Given the description of an element on the screen output the (x, y) to click on. 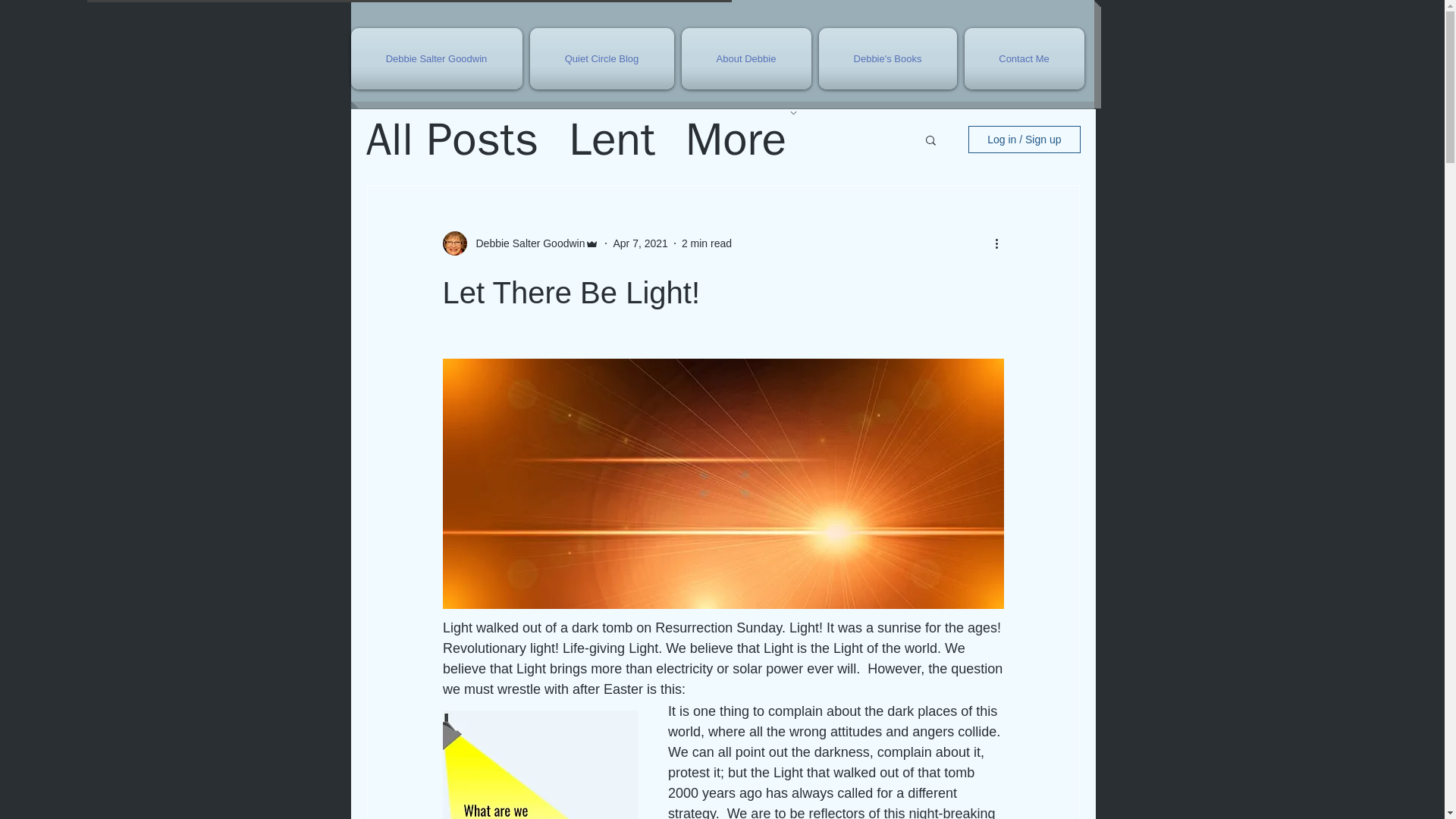
Debbie's Books (886, 58)
Debbie Salter Goodwin (526, 242)
Apr 7, 2021 (639, 242)
Quiet Circle Blog (601, 58)
Lent (612, 139)
Contact Me (1021, 58)
2 min read (706, 242)
Debbie Salter Goodwin (437, 58)
All Posts (451, 139)
About Debbie (746, 58)
